Given the description of an element on the screen output the (x, y) to click on. 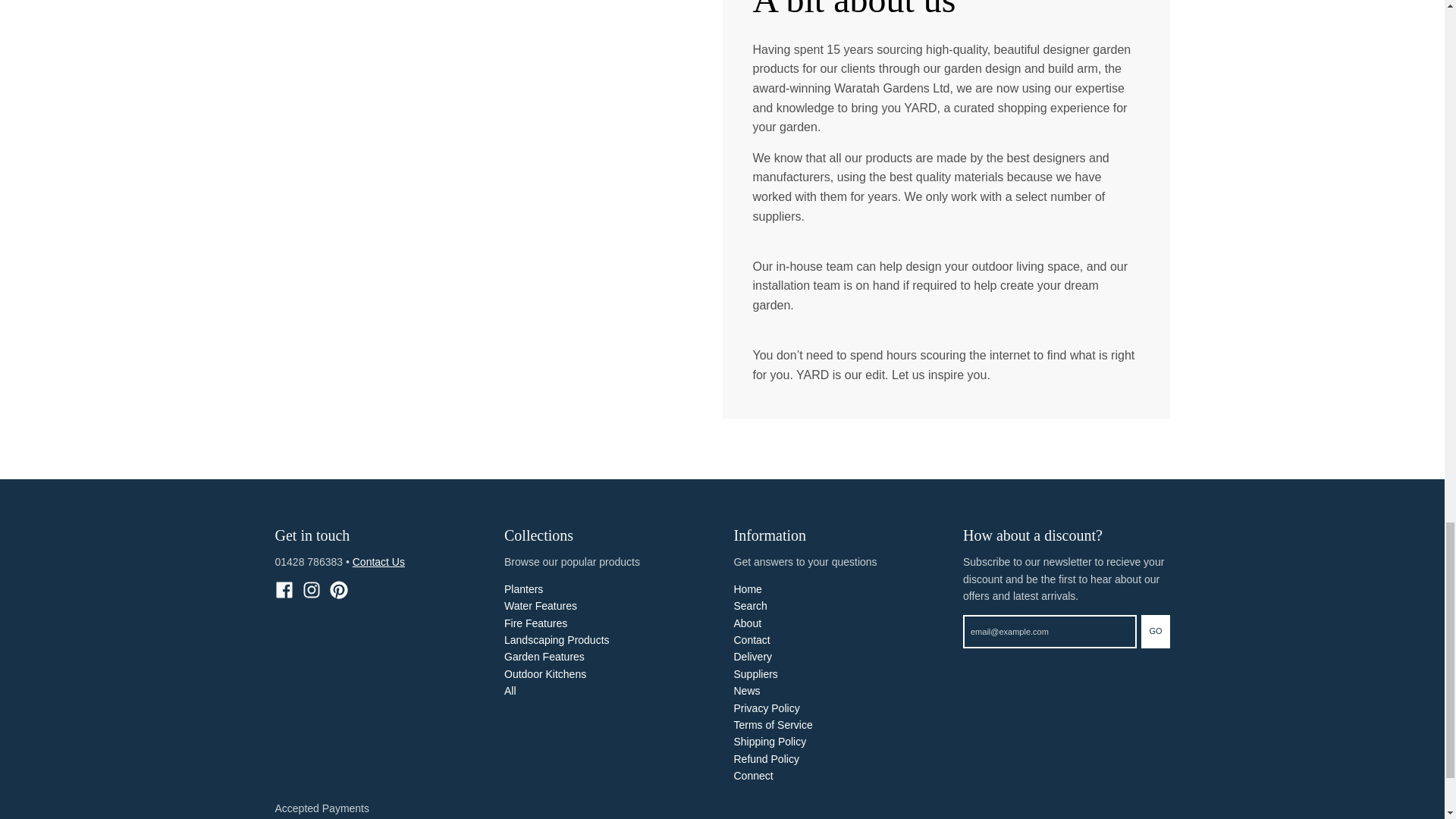
Pinterest - Yard Garden Style (338, 589)
Facebook - Yard Garden Style (283, 589)
Instagram - Yard Garden Style (310, 589)
